Given the description of an element on the screen output the (x, y) to click on. 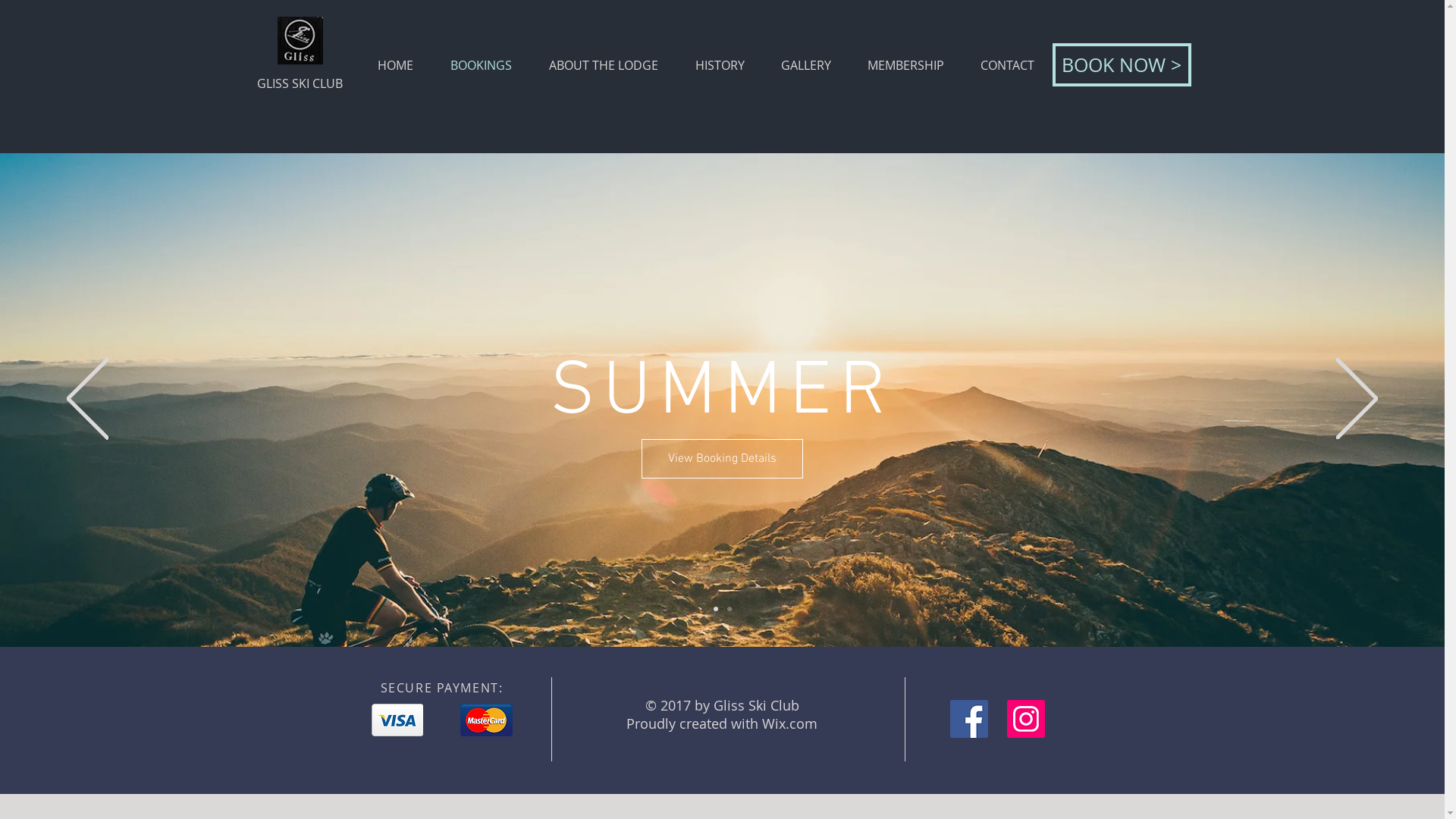
GLISS SKI CLUB Element type: text (299, 83)
master.png Element type: hover (485, 719)
BOOKINGS Element type: text (481, 65)
CONTACT Element type: text (1006, 65)
Wix.com Element type: text (789, 723)
HOME Element type: text (395, 65)
View Booking Details Element type: text (739, 458)
GALLERY Element type: text (805, 65)
BOOK NOW > Element type: text (1121, 64)
ABOUT THE LODGE Element type: text (603, 65)
HISTORY Element type: text (719, 65)
MEMBERSHIP Element type: text (905, 65)
